Given the description of an element on the screen output the (x, y) to click on. 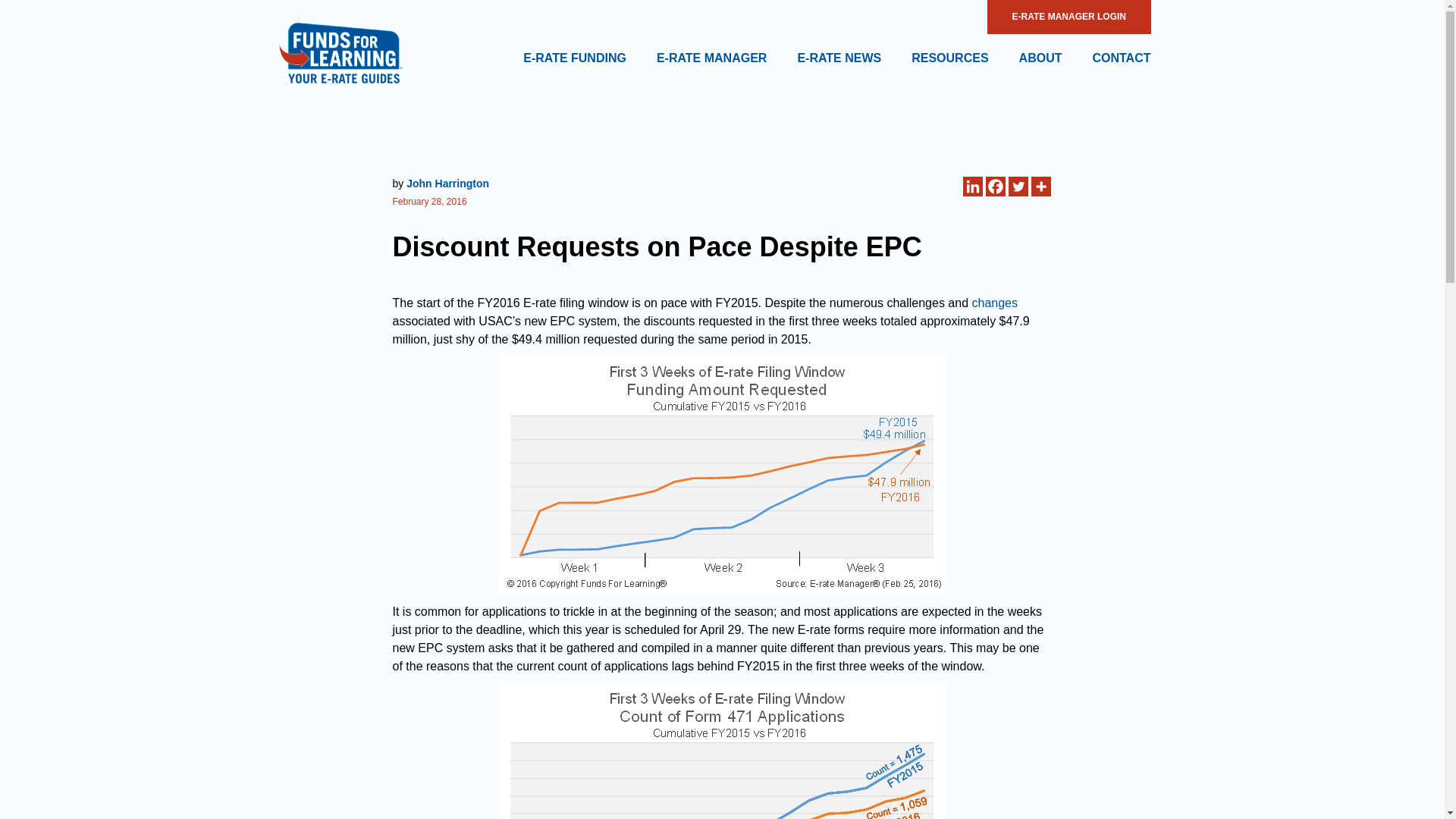
More (1040, 186)
E-RATE MANAGER LOGIN (1068, 17)
E-RATE NEWS (838, 58)
Twitter (1018, 186)
Linkedin (972, 186)
RESOURCES (949, 58)
E-RATE FUNDING (574, 58)
changes (994, 302)
ABOUT (1040, 58)
Facebook (995, 186)
